Given the description of an element on the screen output the (x, y) to click on. 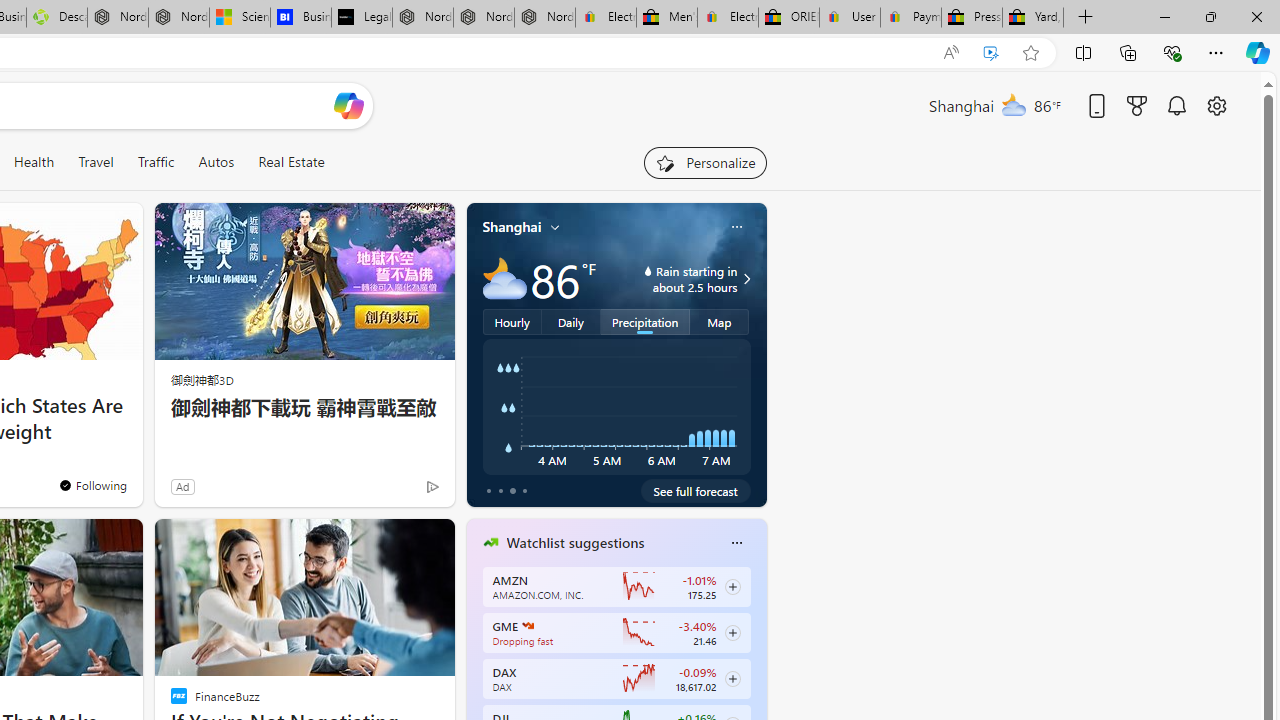
Daily (571, 321)
tab-2 (511, 490)
Autos (216, 162)
tab-3 (524, 490)
Payments Terms of Use | eBay.com (910, 17)
Shanghai (511, 227)
Autos (215, 161)
You're following MSNBC (390, 490)
